Given the description of an element on the screen output the (x, y) to click on. 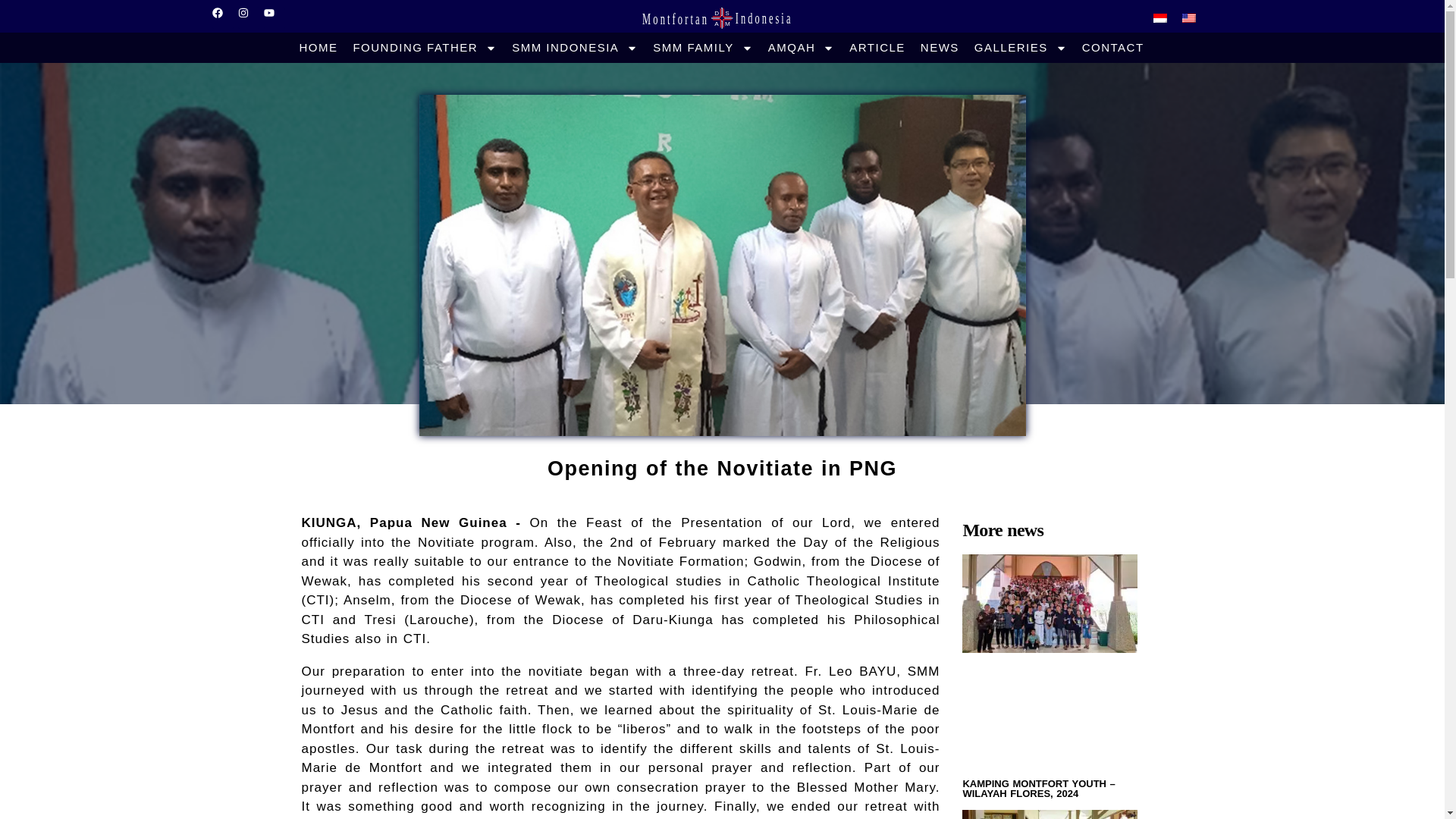
Indonesian (1160, 17)
Facebook (222, 17)
English (1188, 17)
SMM FAMILY (702, 47)
Youtube (274, 17)
SMM INDONESIA (574, 47)
HOME (318, 47)
Instagram (248, 17)
AMQAH (801, 47)
FOUNDING FATHER (424, 47)
